Given the description of an element on the screen output the (x, y) to click on. 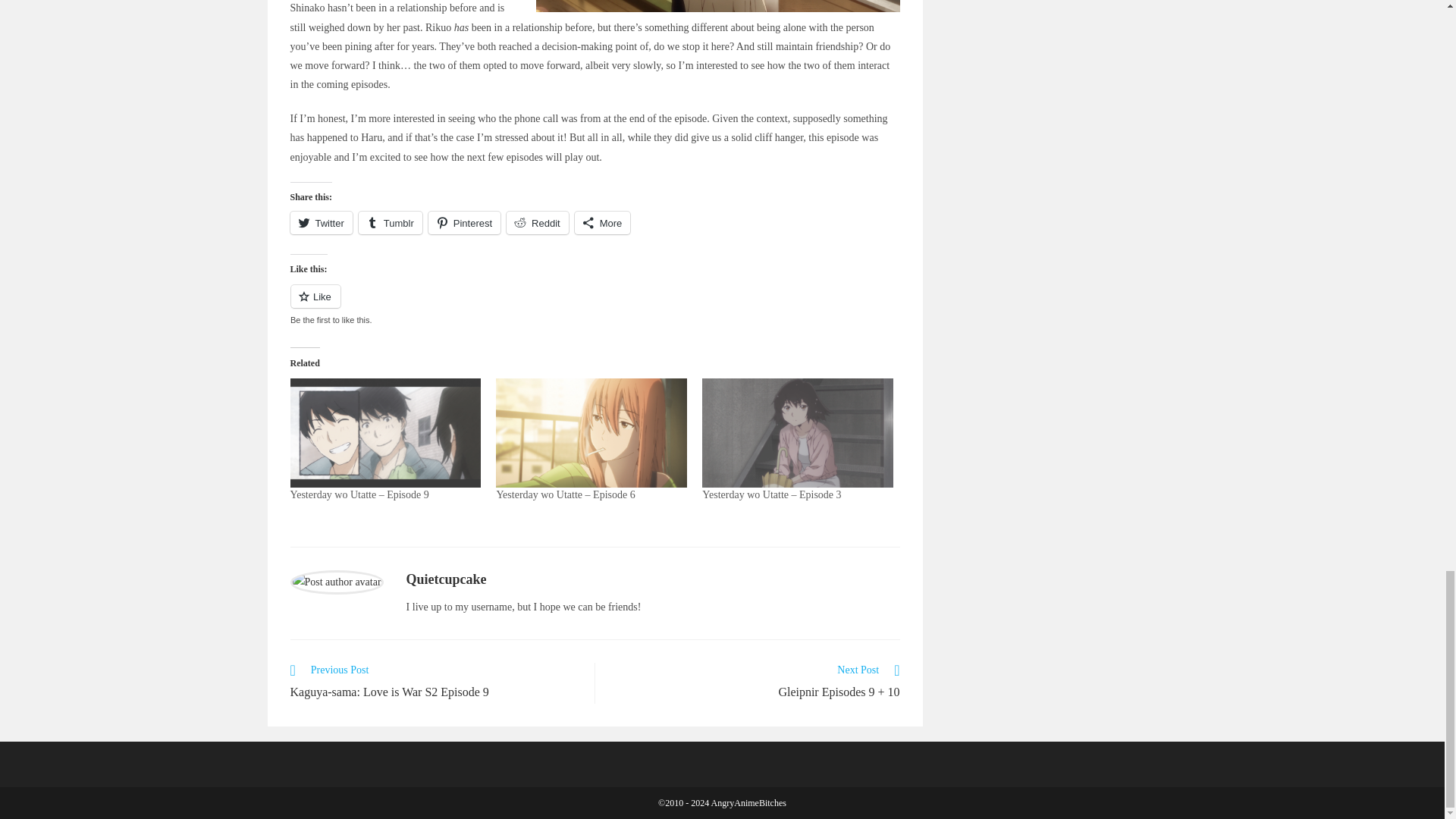
Click to share on Reddit (537, 222)
Click to share on Tumblr (390, 222)
Click to share on Pinterest (464, 222)
Visit author page (335, 581)
Visit author page (446, 579)
Click to share on Twitter (320, 222)
Like or Reblog (594, 304)
